Given the description of an element on the screen output the (x, y) to click on. 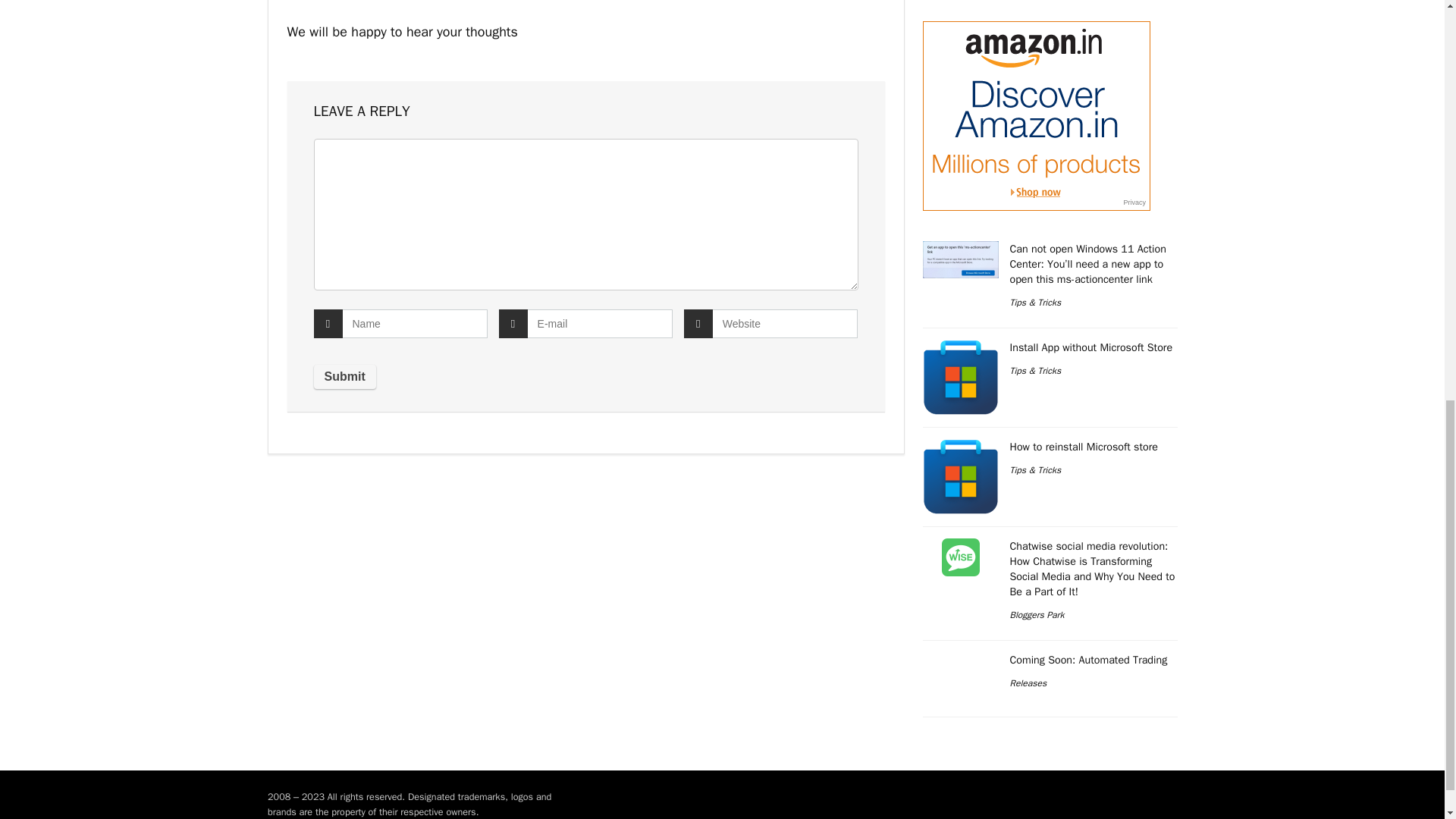
Submit (344, 376)
